Given the description of an element on the screen output the (x, y) to click on. 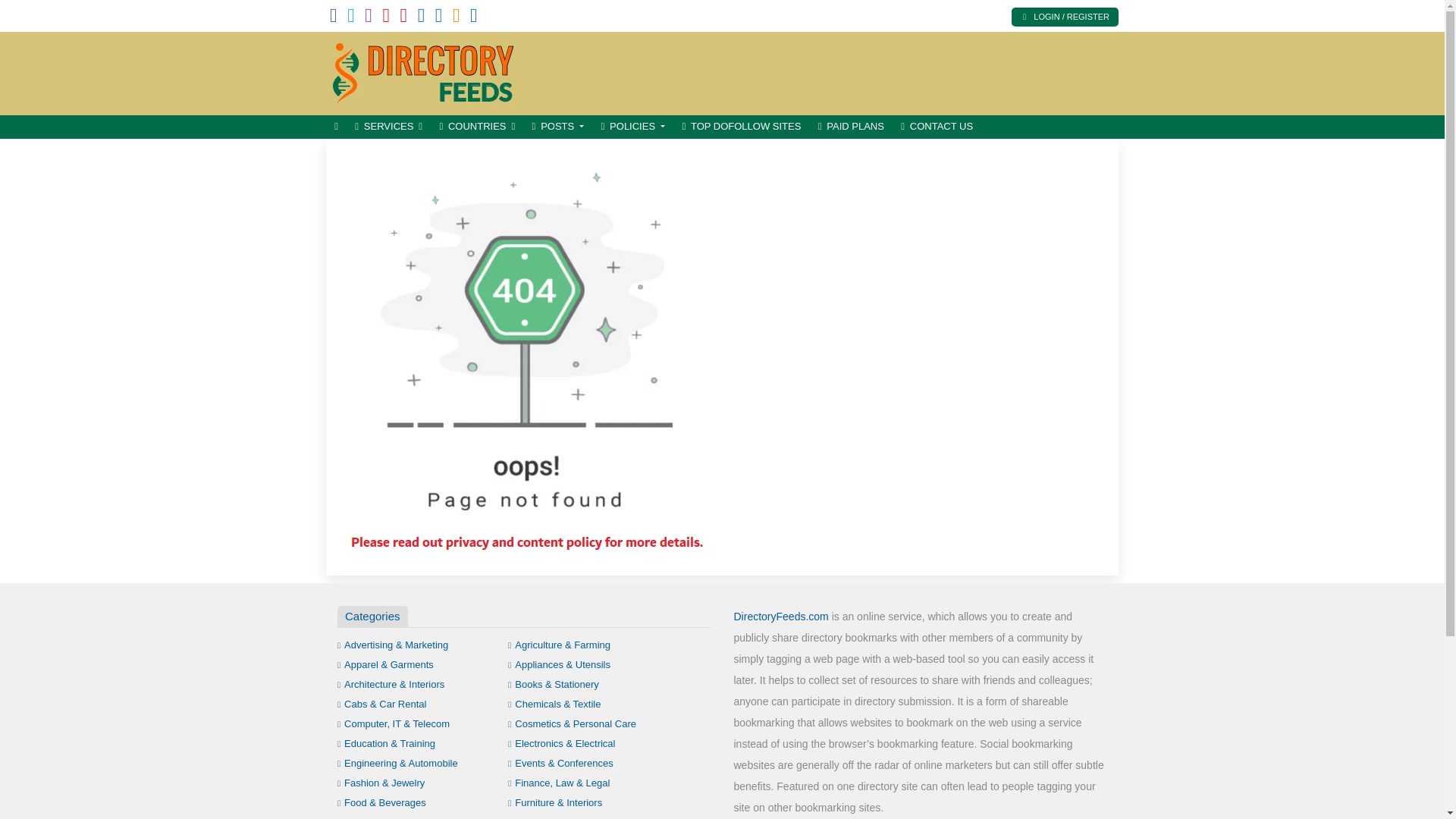
SERVICES (388, 126)
Directory Feed Service for Search Engine Optimization (428, 71)
